Given the description of an element on the screen output the (x, y) to click on. 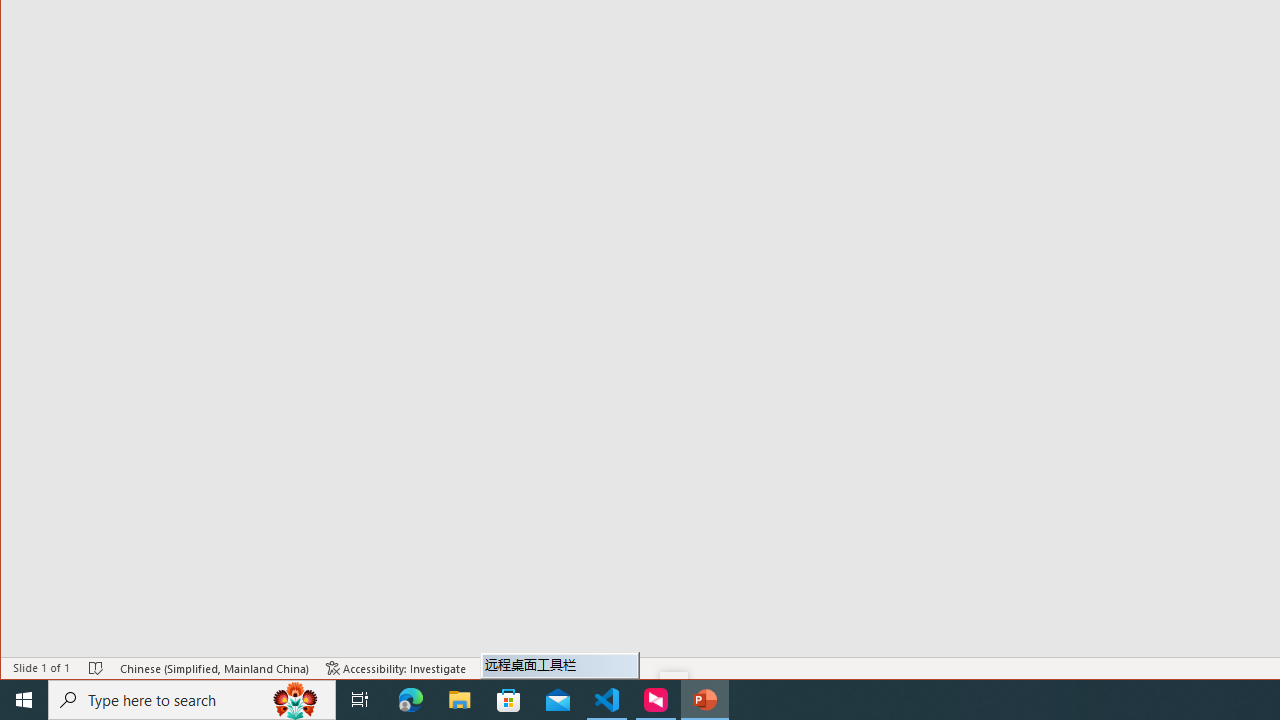
Microsoft Edge (411, 699)
